Given the description of an element on the screen output the (x, y) to click on. 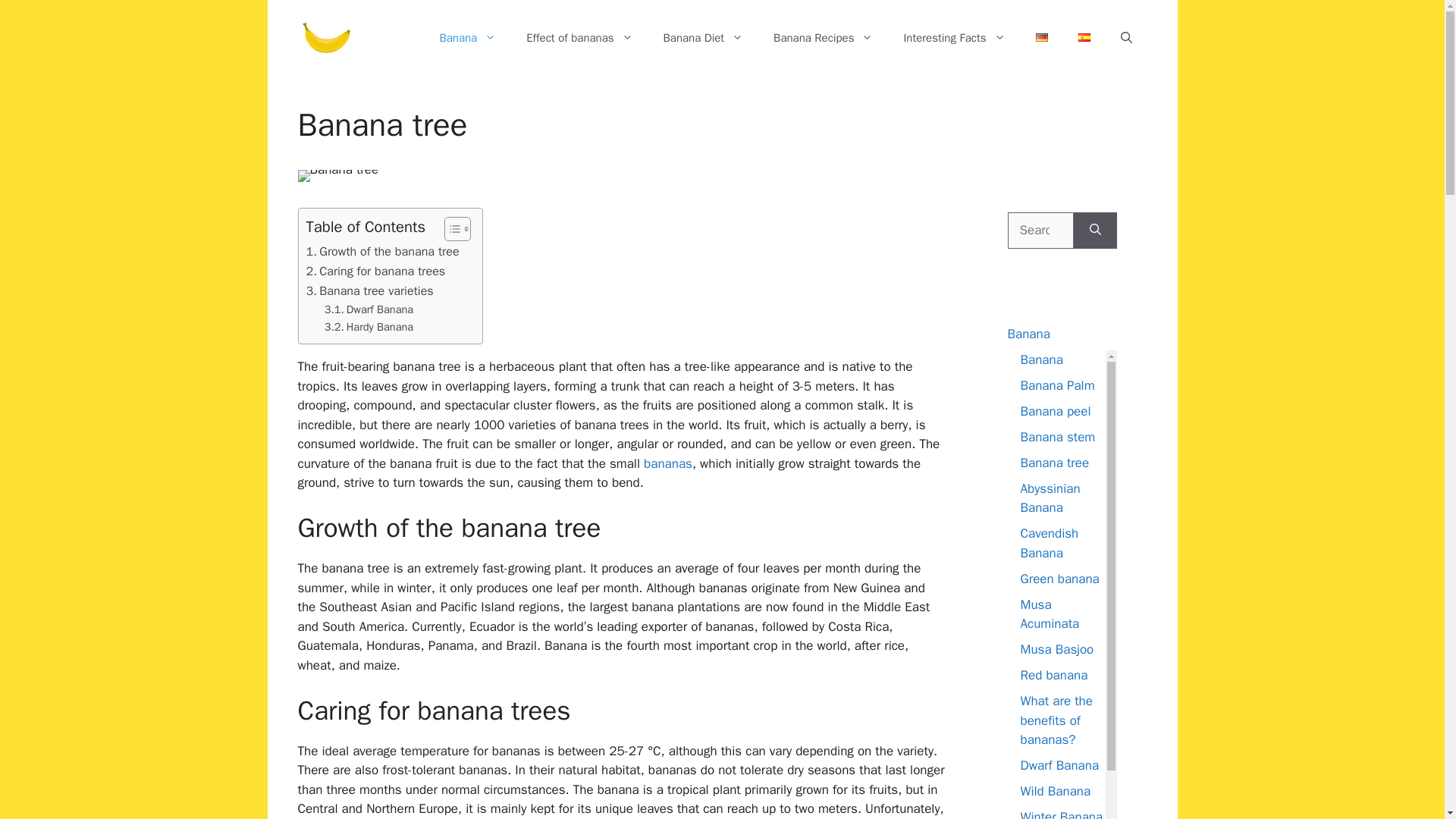
Hardy Banana (368, 326)
Caring for banana trees (375, 271)
Banana Diet (702, 37)
Growth of the banana tree (382, 251)
Effect of bananas (579, 37)
Banana (467, 37)
Banana tree varieties (369, 291)
Search for: (1040, 230)
Dwarf Banana (368, 309)
